Given the description of an element on the screen output the (x, y) to click on. 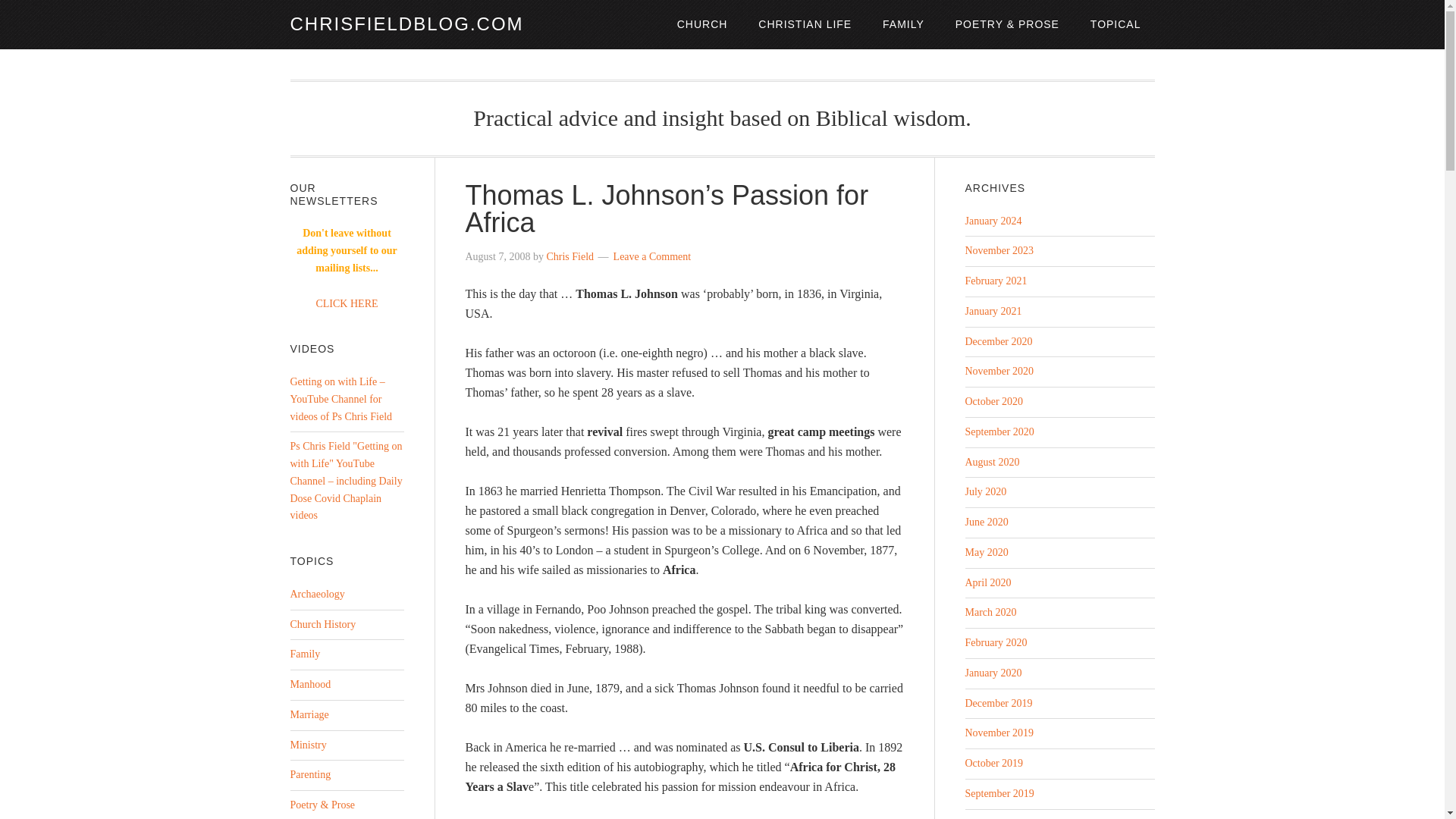
November 2020 (998, 370)
CHRISTIAN LIFE (804, 24)
TOPICAL (1115, 24)
January 2024 (992, 220)
Chris Field (570, 256)
CHURCH (702, 24)
February 2021 (994, 280)
November 2023 (998, 250)
Leave a Comment (651, 256)
December 2020 (997, 341)
FAMILY (903, 24)
Discussion of archaeological findings and topics. (316, 593)
